Given the description of an element on the screen output the (x, y) to click on. 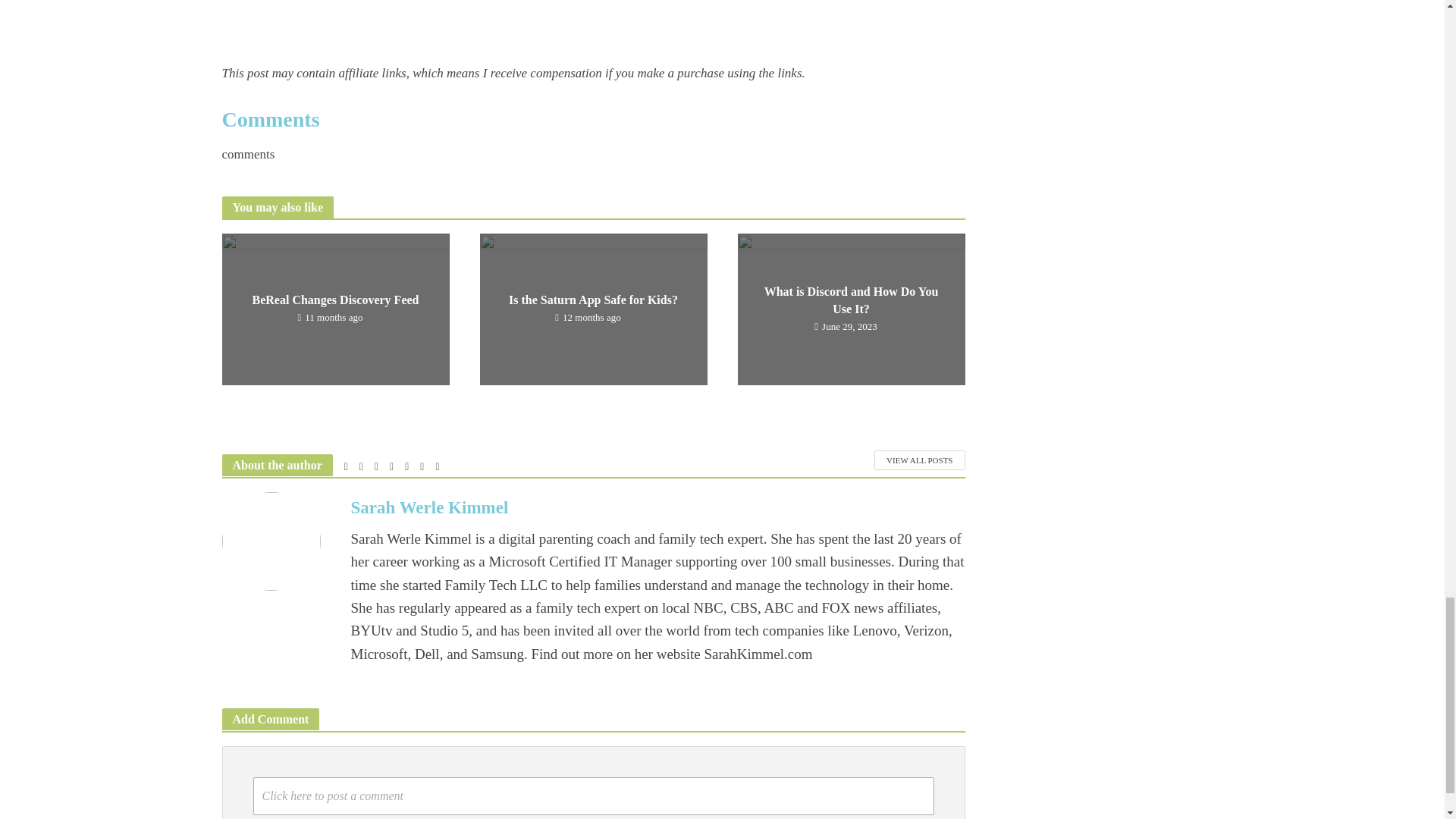
BeReal Changes Discovery Feed (334, 308)
What is Discord and How Do You Use It? (849, 308)
Is the Saturn App Safe for Kids? (592, 308)
